Given the description of an element on the screen output the (x, y) to click on. 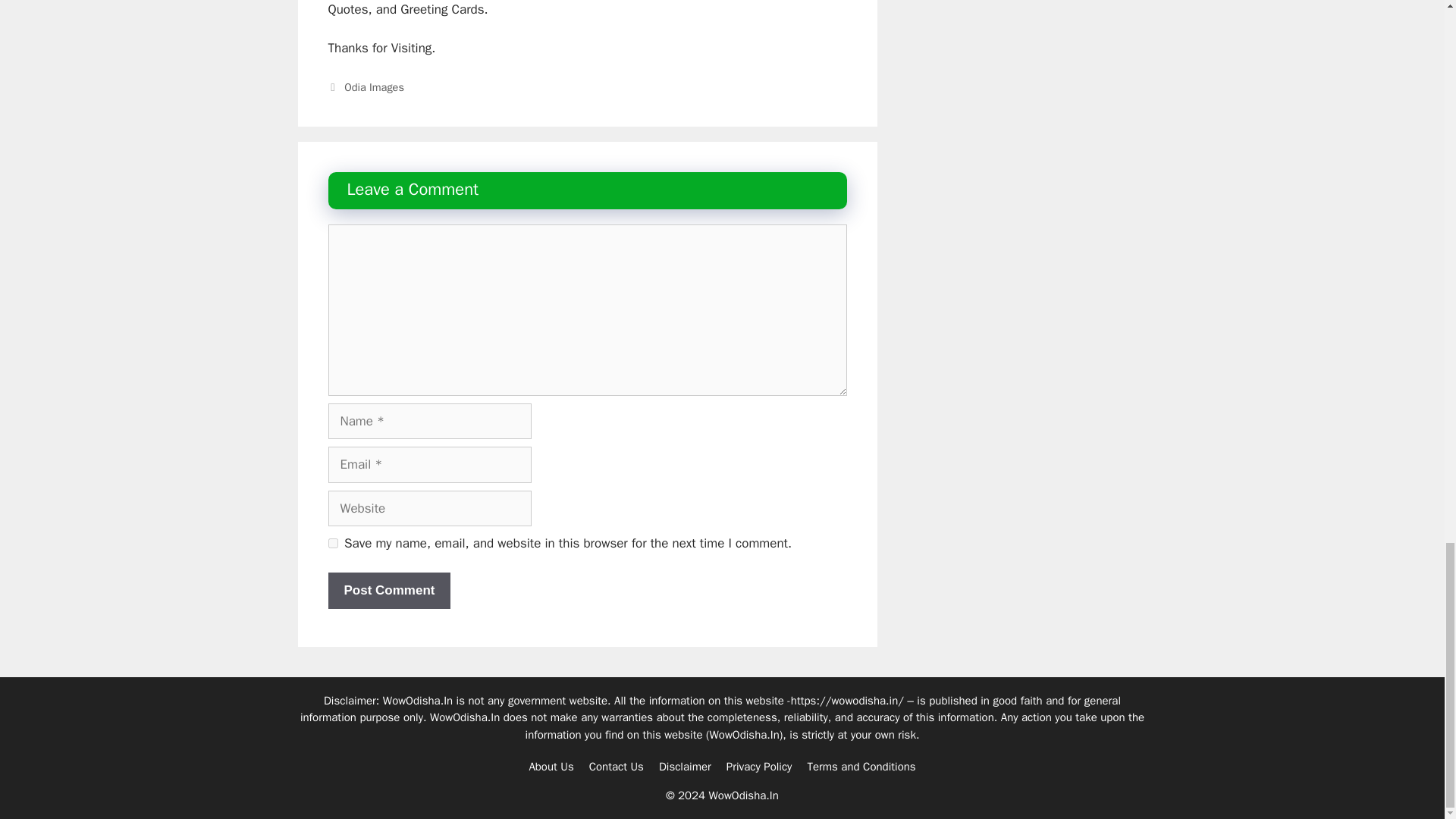
Post Comment (388, 590)
Odia Images (373, 87)
WowOdisha.In (744, 734)
Privacy Policy (759, 766)
Terms and Conditions (860, 766)
Contact Us (616, 766)
Disclaimer (685, 766)
yes (332, 542)
About Us (550, 766)
Post Comment (388, 590)
